Given the description of an element on the screen output the (x, y) to click on. 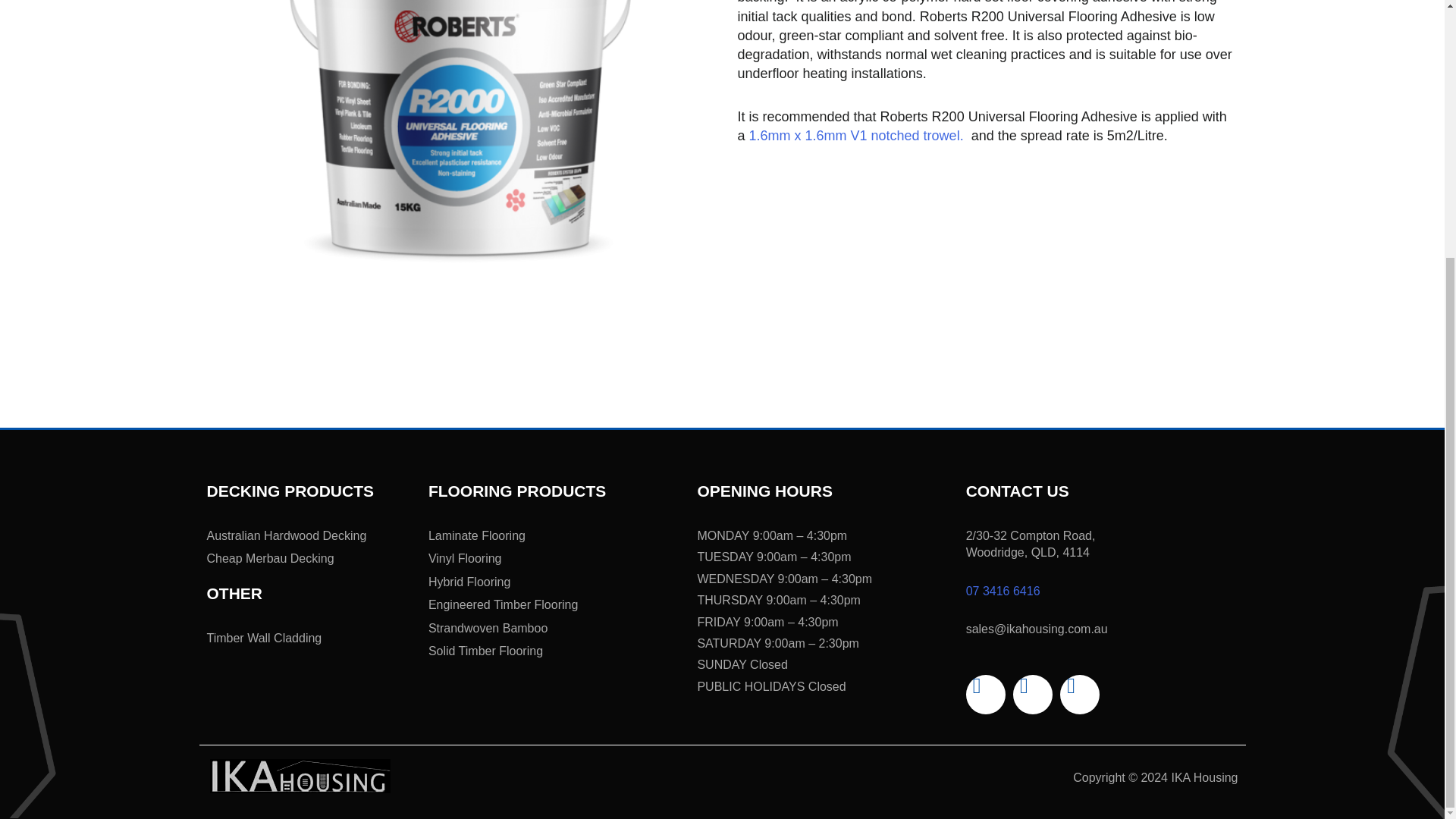
07 3416 6416 (1003, 590)
Strandwoven Bamboo (555, 628)
Engineered Timber Flooring (555, 605)
Linkedin-in (1079, 694)
Timber Wall Cladding (309, 638)
Facebook-f (986, 694)
Hybrid Flooring (555, 582)
1.6mm x 1.6mm V1 notched trowel.  (858, 135)
Twitter (1032, 694)
Cheap Merbau Decking (309, 558)
Laminate Flooring (555, 535)
Roberts 1.6mm V-Notch Trowel For Vinyl Flooring (858, 135)
Solid Timber Flooring (555, 651)
Vinyl Flooring (555, 558)
